Given the description of an element on the screen output the (x, y) to click on. 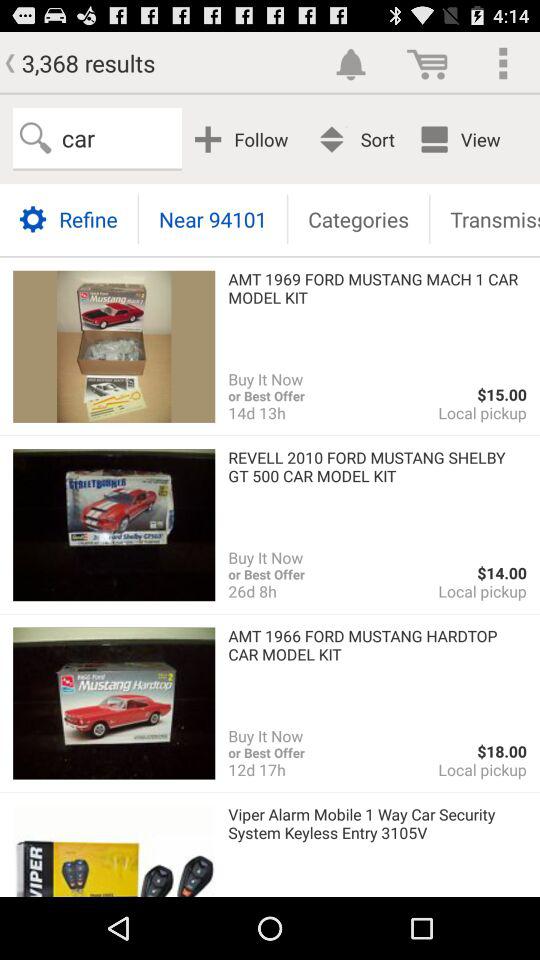
flip to the transmission button (485, 218)
